Given the description of an element on the screen output the (x, y) to click on. 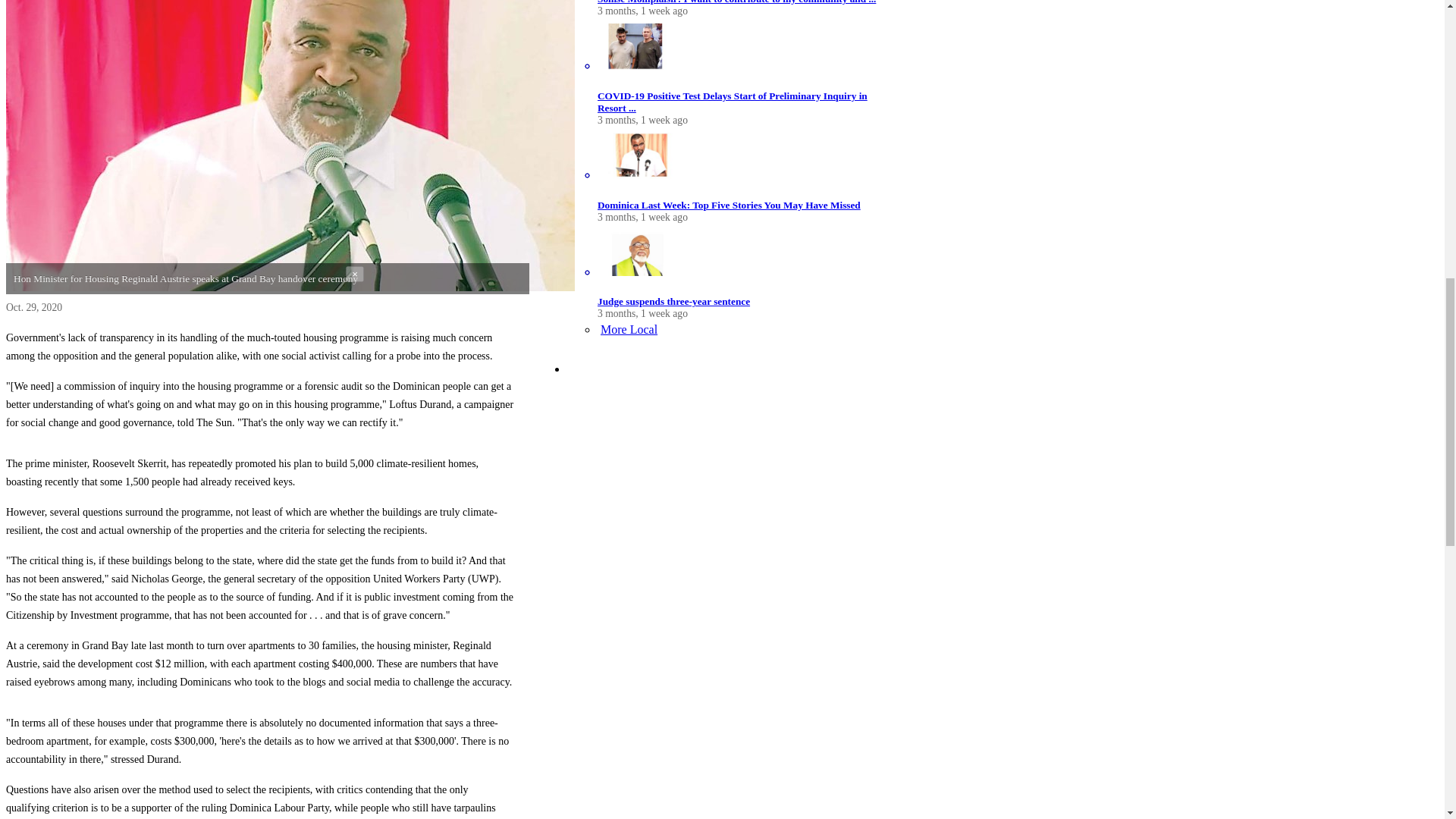
More Local (627, 328)
Judge suspends three-year sentence (672, 301)
Dominica Last Week: Top Five Stories You May Have Missed (728, 204)
